Given the description of an element on the screen output the (x, y) to click on. 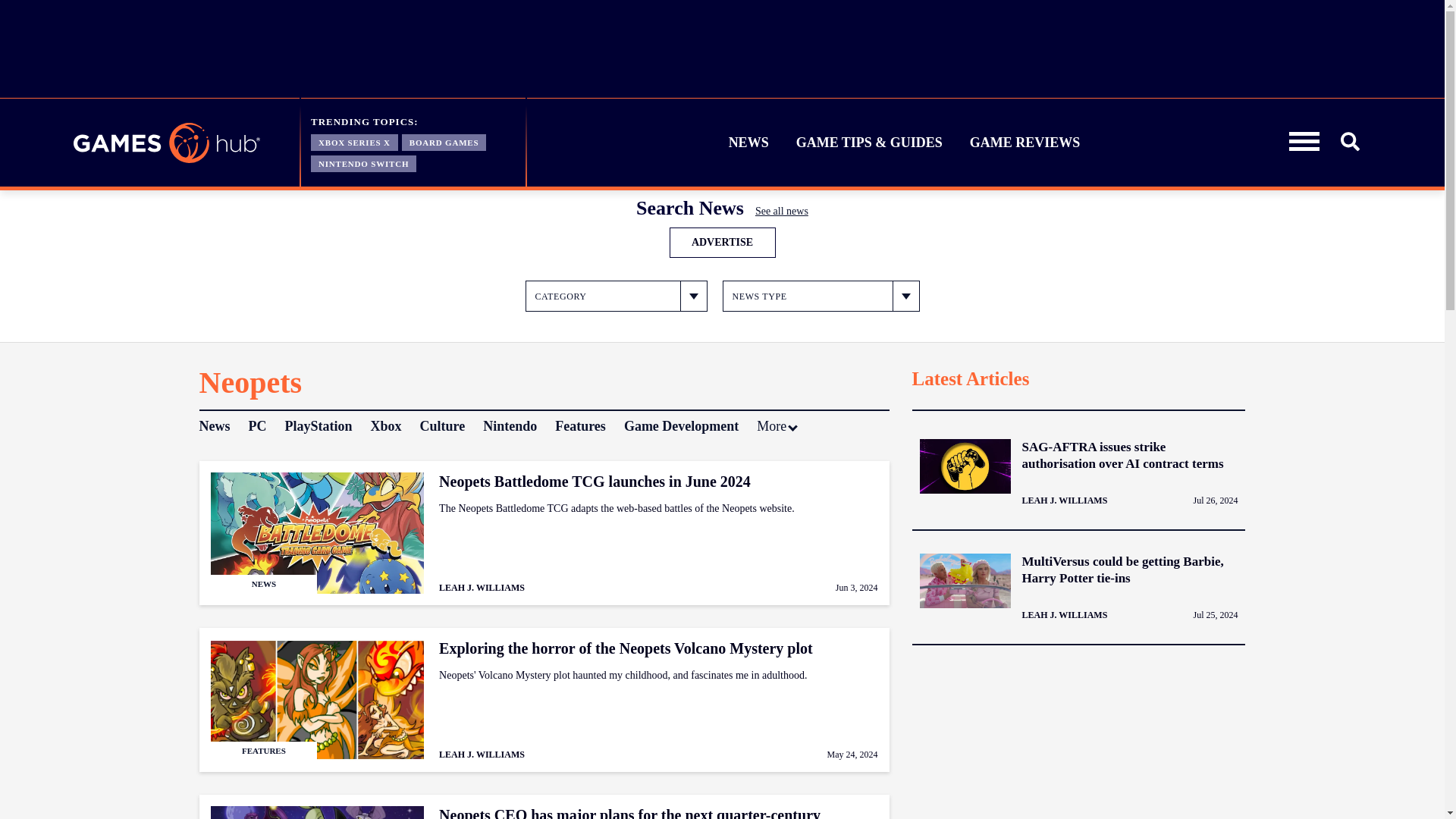
NINTENDO SWITCH (363, 162)
BOARD GAMES (443, 141)
NEWS (748, 142)
GAME REVIEWS (1025, 142)
XBOX SERIES X (354, 141)
